Given the description of an element on the screen output the (x, y) to click on. 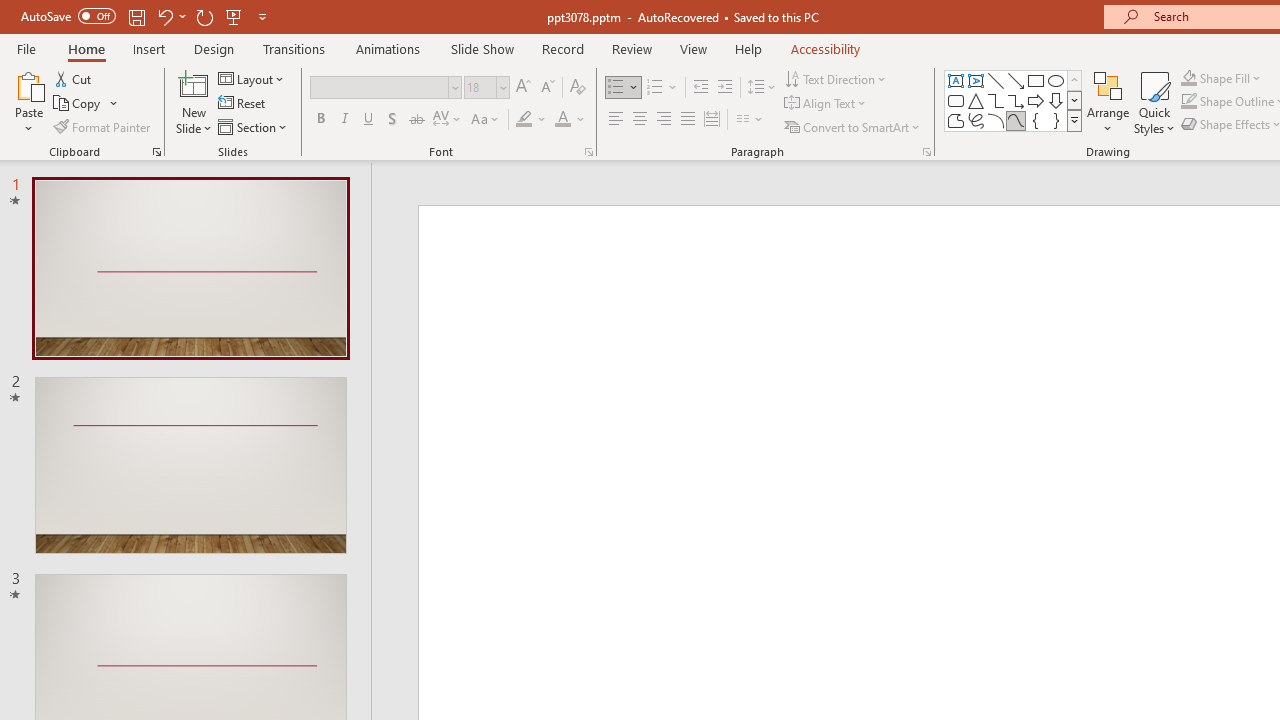
Underline (369, 119)
Increase Indent (725, 87)
Layout (252, 78)
AutomationID: ShapesInsertGallery (1014, 100)
Paragraph... (926, 151)
Character Spacing (447, 119)
Oval (1055, 80)
Center (639, 119)
